Given the description of an element on the screen output the (x, y) to click on. 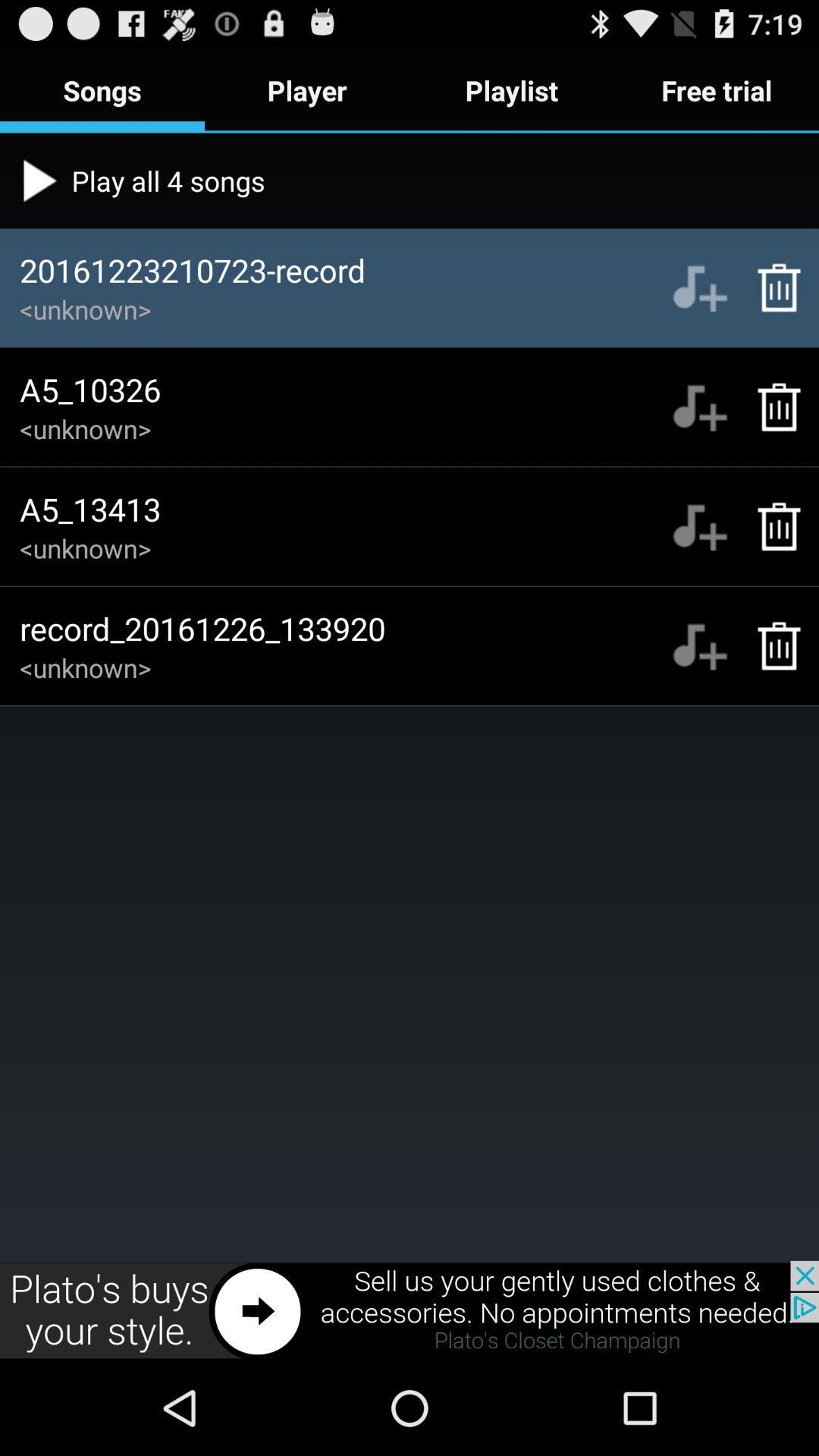
go to the delete option (771, 645)
